Given the description of an element on the screen output the (x, y) to click on. 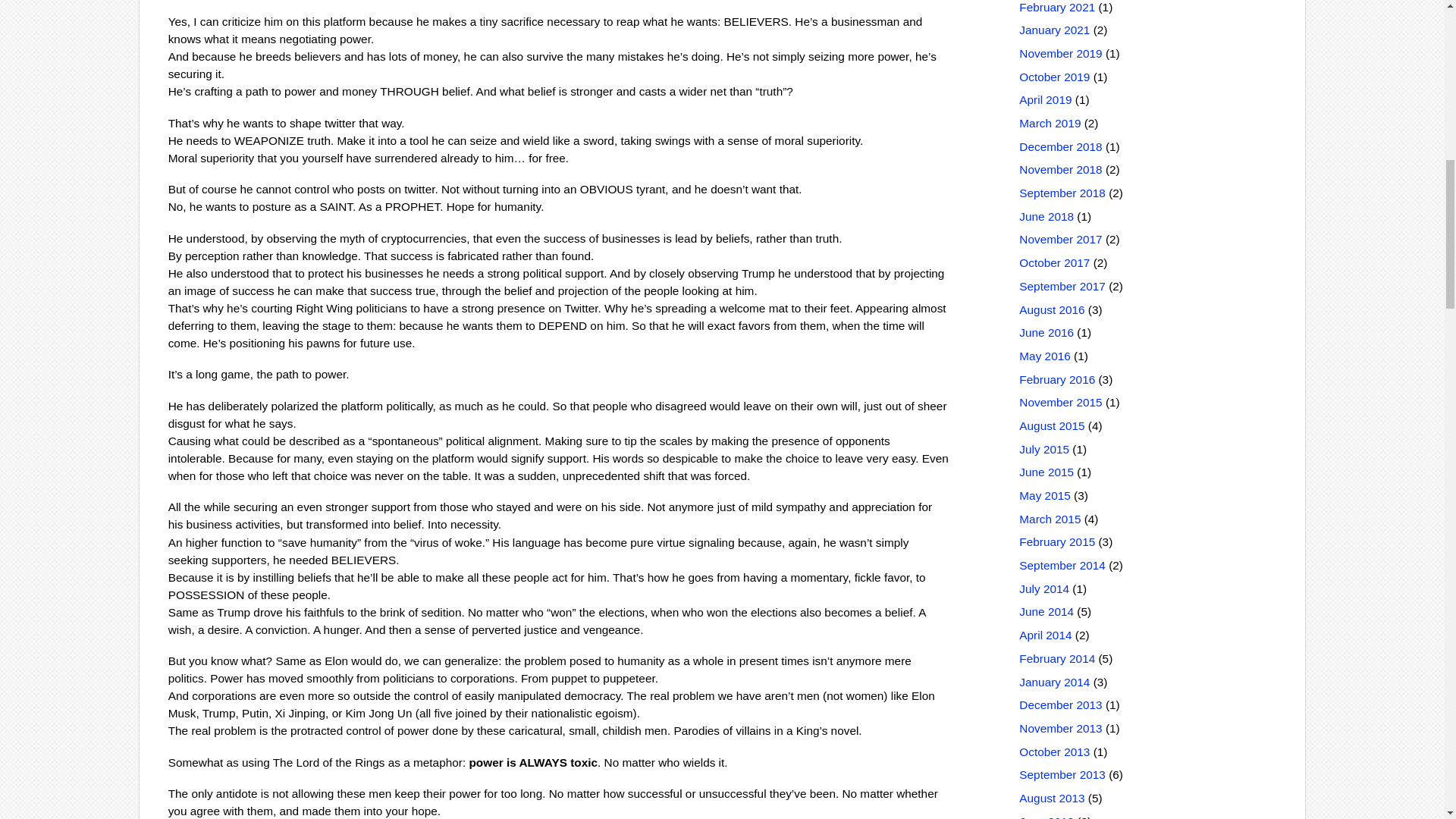
January 2021 (1054, 29)
October 2019 (1054, 76)
November 2019 (1060, 52)
February 2021 (1056, 6)
March 2019 (1049, 123)
April 2019 (1045, 99)
